Given the description of an element on the screen output the (x, y) to click on. 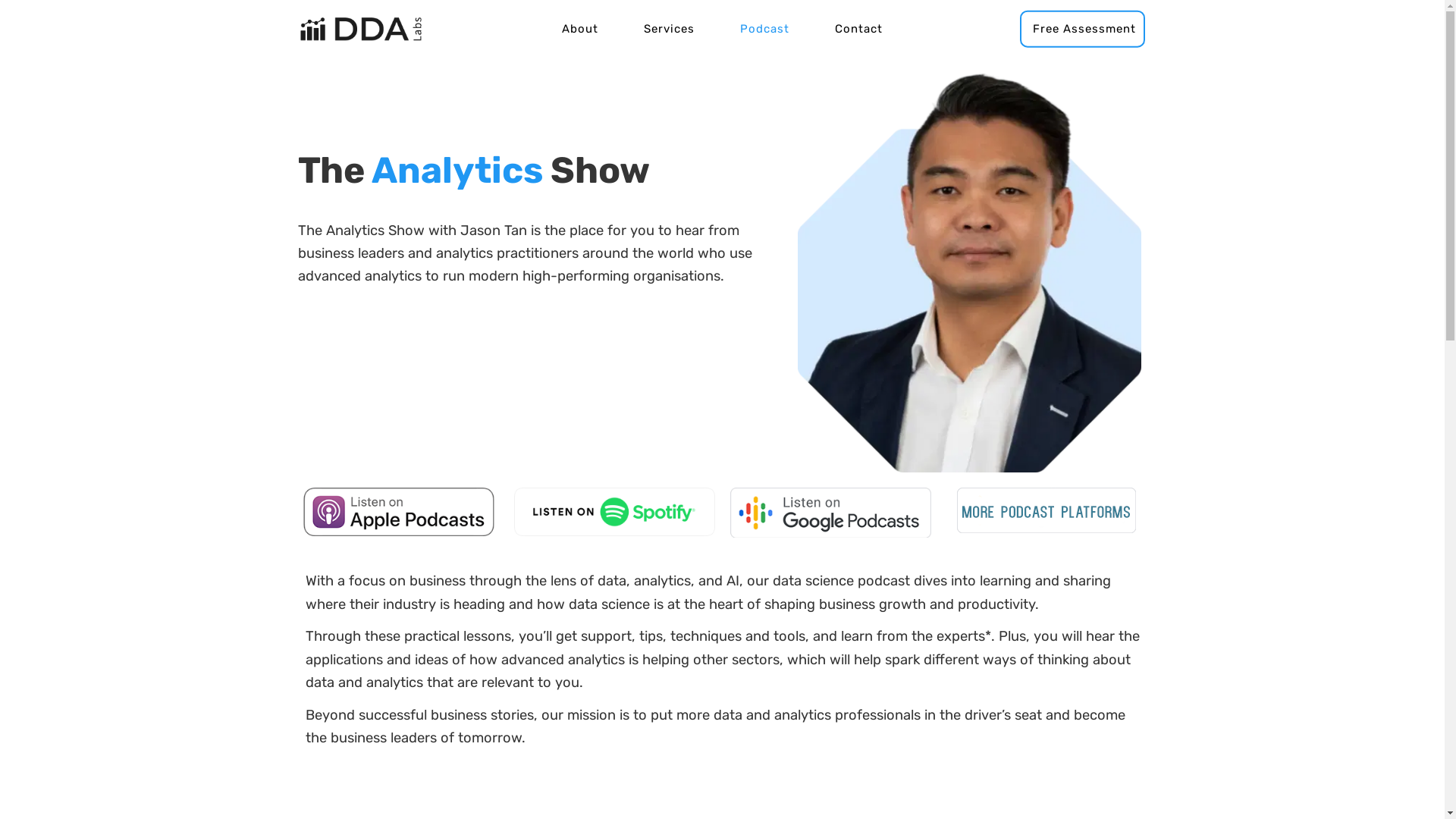
Podcast Element type: text (764, 29)
Contact Element type: text (858, 29)
Services Element type: text (668, 29)
About Element type: text (579, 29)
Free Assessment Element type: text (1081, 28)
